Given the description of an element on the screen output the (x, y) to click on. 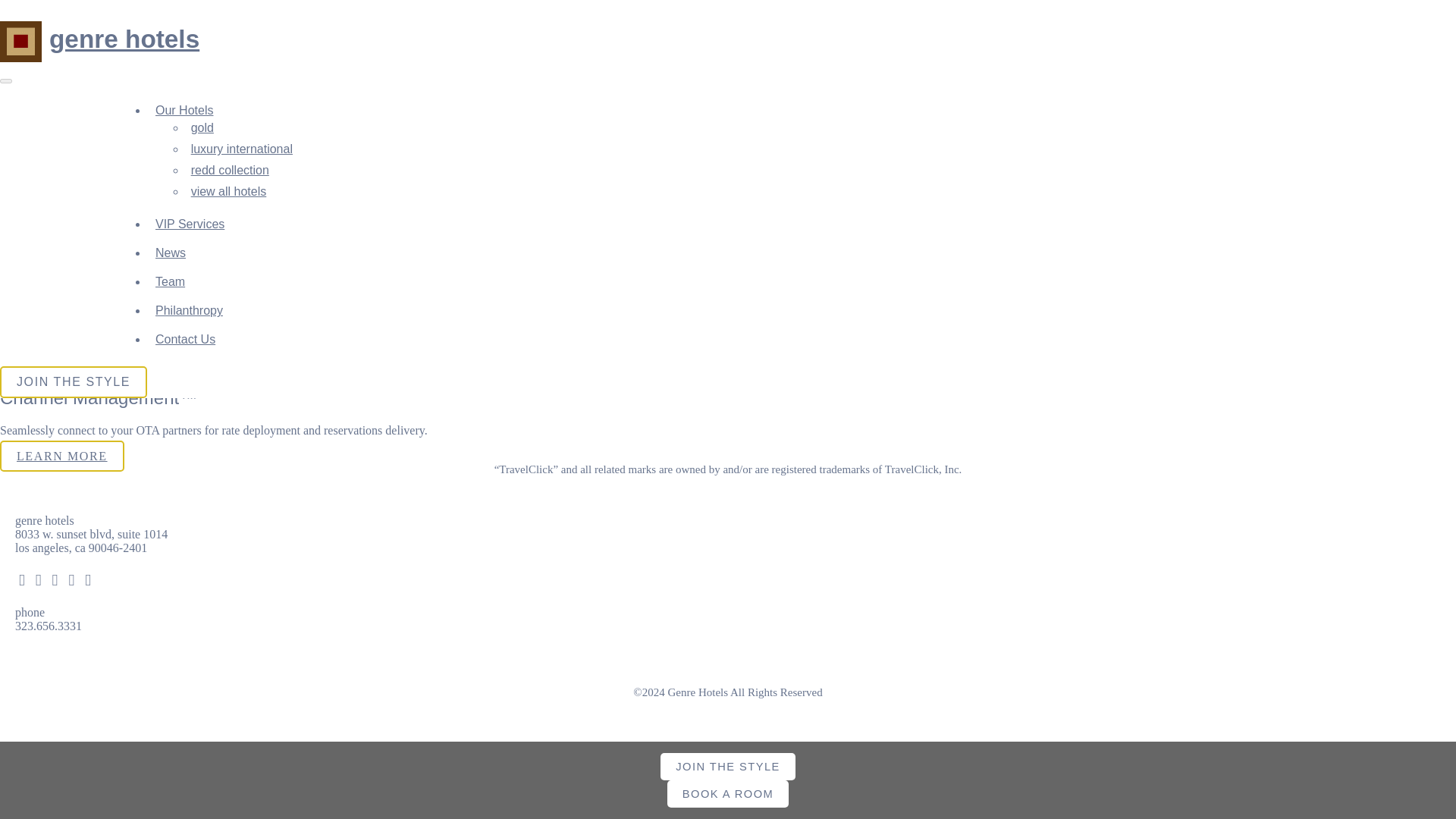
VIP Services (189, 223)
view all hotels (228, 191)
LEARN MORE (61, 455)
News (170, 252)
REDD Collection (229, 169)
luxury international (241, 148)
Team (169, 281)
gold (202, 127)
LEARN MORE (61, 92)
Our Hotels (183, 110)
Contact Us (185, 338)
View All Hotels (228, 191)
JOIN THE STYLE (73, 382)
323.656.3331 (47, 625)
VIP Services (189, 223)
